Given the description of an element on the screen output the (x, y) to click on. 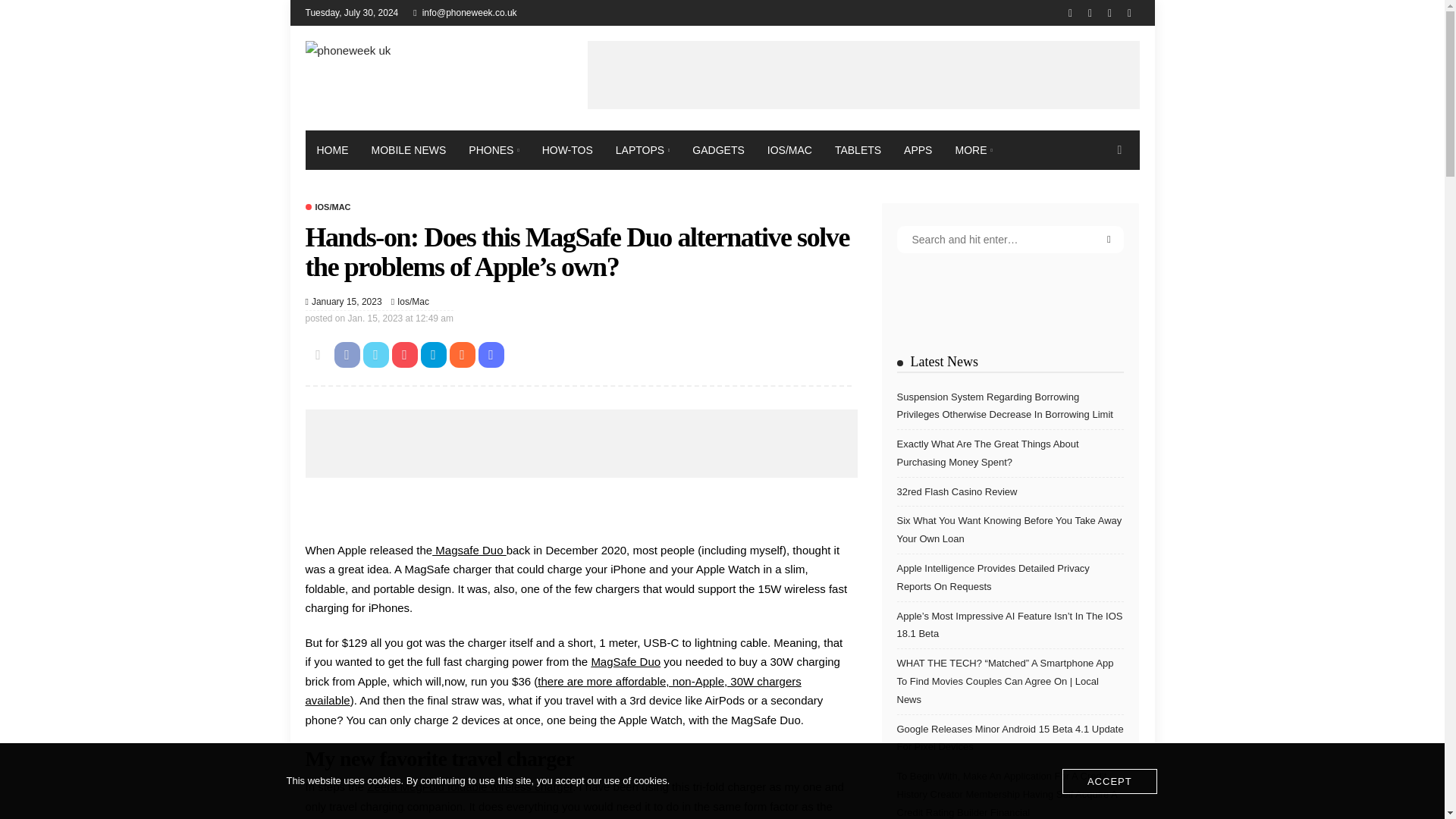
search (1118, 149)
LAPTOPS (642, 149)
PHONES (493, 149)
HOW-TOS (567, 149)
GADGETS (718, 149)
MORE (973, 149)
Magsafe Duo (469, 549)
APPS (917, 149)
HOME (331, 149)
TABLETS (858, 149)
MagSafe Duo (626, 661)
MOBILE NEWS (408, 149)
there are more affordable, non-Apple, 30W chargers available (552, 690)
